Given the description of an element on the screen output the (x, y) to click on. 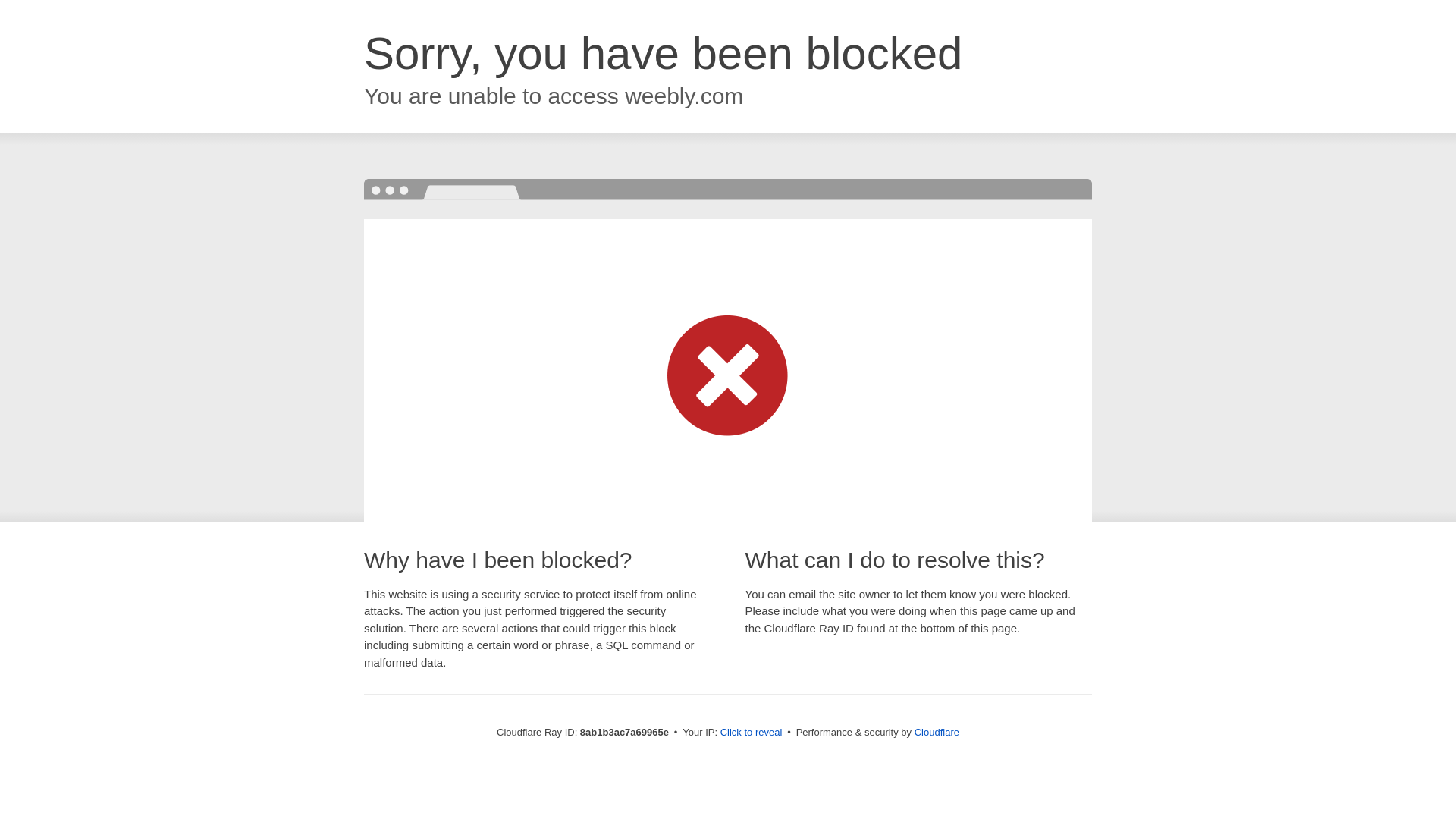
Cloudflare (936, 731)
Click to reveal (751, 732)
